Given the description of an element on the screen output the (x, y) to click on. 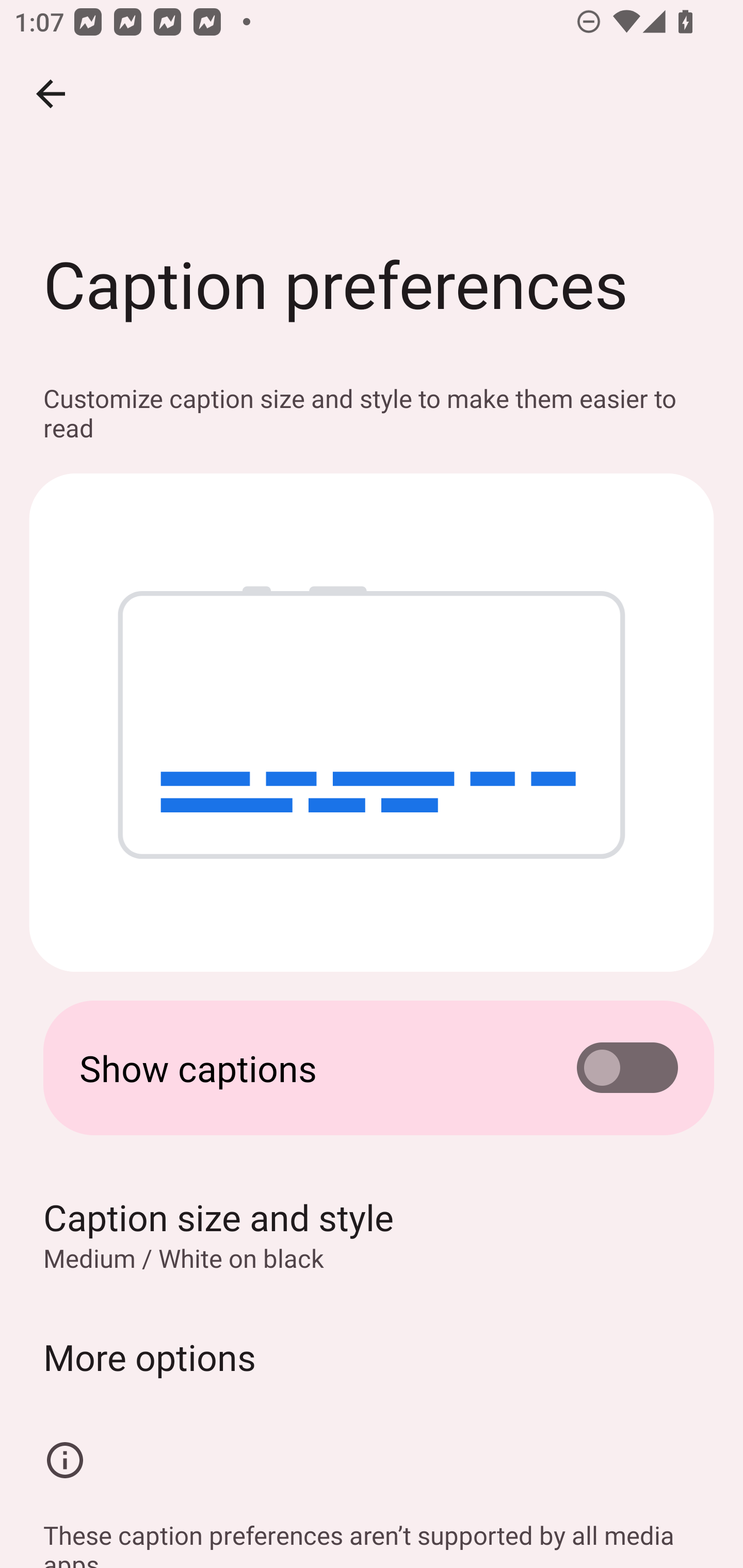
Navigate up (50, 93)
Show captions (371, 1067)
Caption size and style Medium / White on black (371, 1233)
More options (371, 1356)
